Given the description of an element on the screen output the (x, y) to click on. 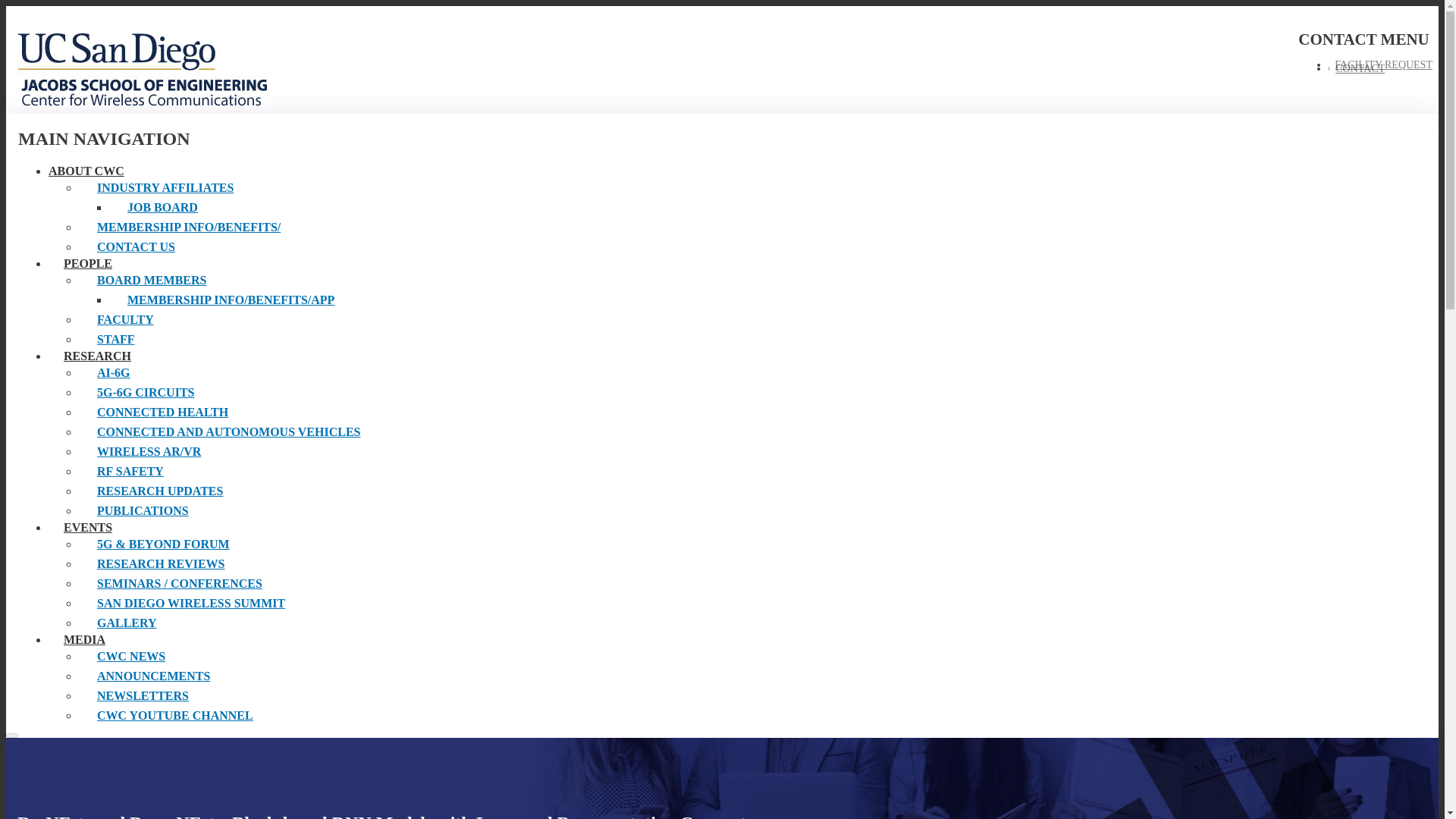
RESEARCH REVIEWS (228, 564)
ANNOUNCEMENTS (228, 676)
GALLERY (228, 623)
EVENTS (88, 526)
BOARD MEMBERS (228, 280)
AI-6G (228, 373)
Home (105, 65)
MEDIA (84, 639)
JOB BOARD (243, 207)
FACULTY (228, 320)
CWC YOUTUBE CHANNEL (228, 715)
PUBLICATIONS (228, 510)
CONTACT US (228, 247)
CONTACT (1359, 67)
NEWSLETTERS (228, 695)
